Given the description of an element on the screen output the (x, y) to click on. 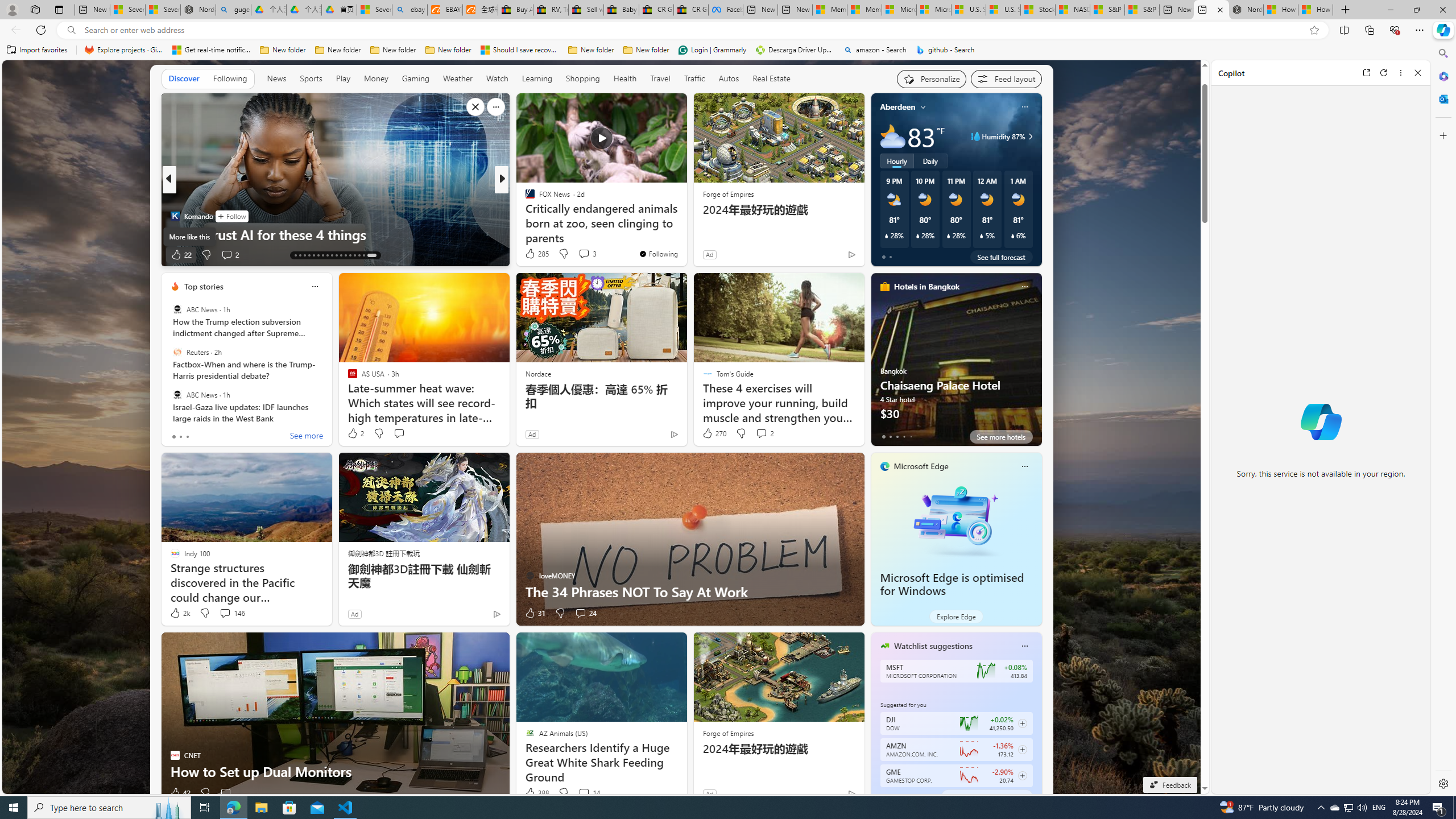
Humidity 87% (1028, 136)
tab-3 (903, 795)
See more (306, 436)
Play (342, 78)
tab-0 (882, 795)
Open link in new tab (1366, 72)
Weather (457, 78)
Class: icon-img (1024, 645)
You're following FOX News (657, 253)
